Given the description of an element on the screen output the (x, y) to click on. 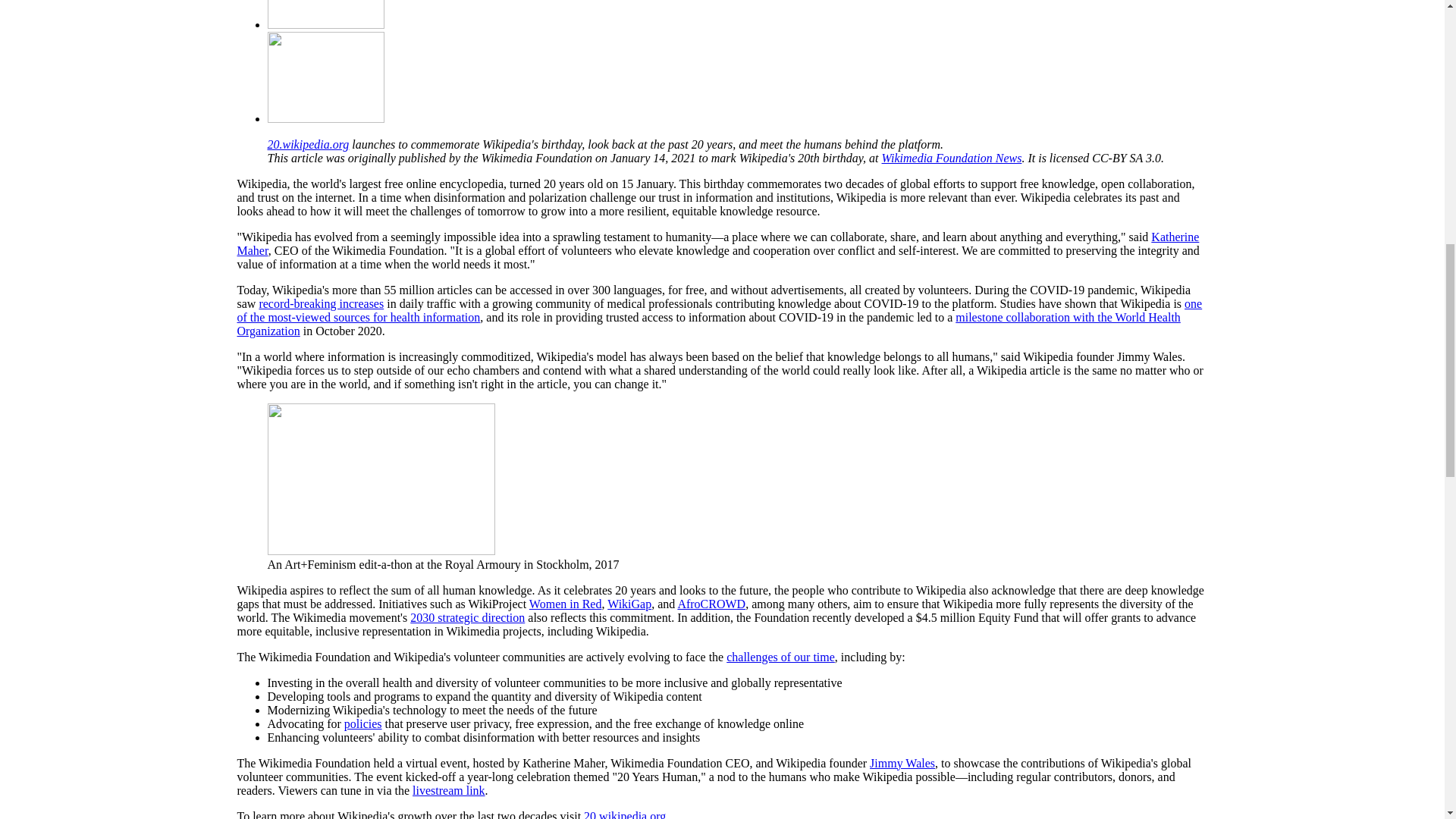
Jimmy Wales (901, 762)
WikiGap (628, 603)
record-breaking increases (321, 303)
Katherine Maher (716, 243)
m:Wikimedia 2030 (467, 617)
policies (362, 723)
AfroCROWD (711, 603)
one of the most-viewed sources for health information (718, 310)
2030 strategic direction (467, 617)
Women in Red (565, 603)
Jimmy Wales (901, 762)
milestone collaboration with the World Health Organization (707, 324)
Wikimedia Foundation News (952, 157)
Wikipedia:WikiProject Women in Red (565, 603)
Katherine Maher (716, 243)
